Given the description of an element on the screen output the (x, y) to click on. 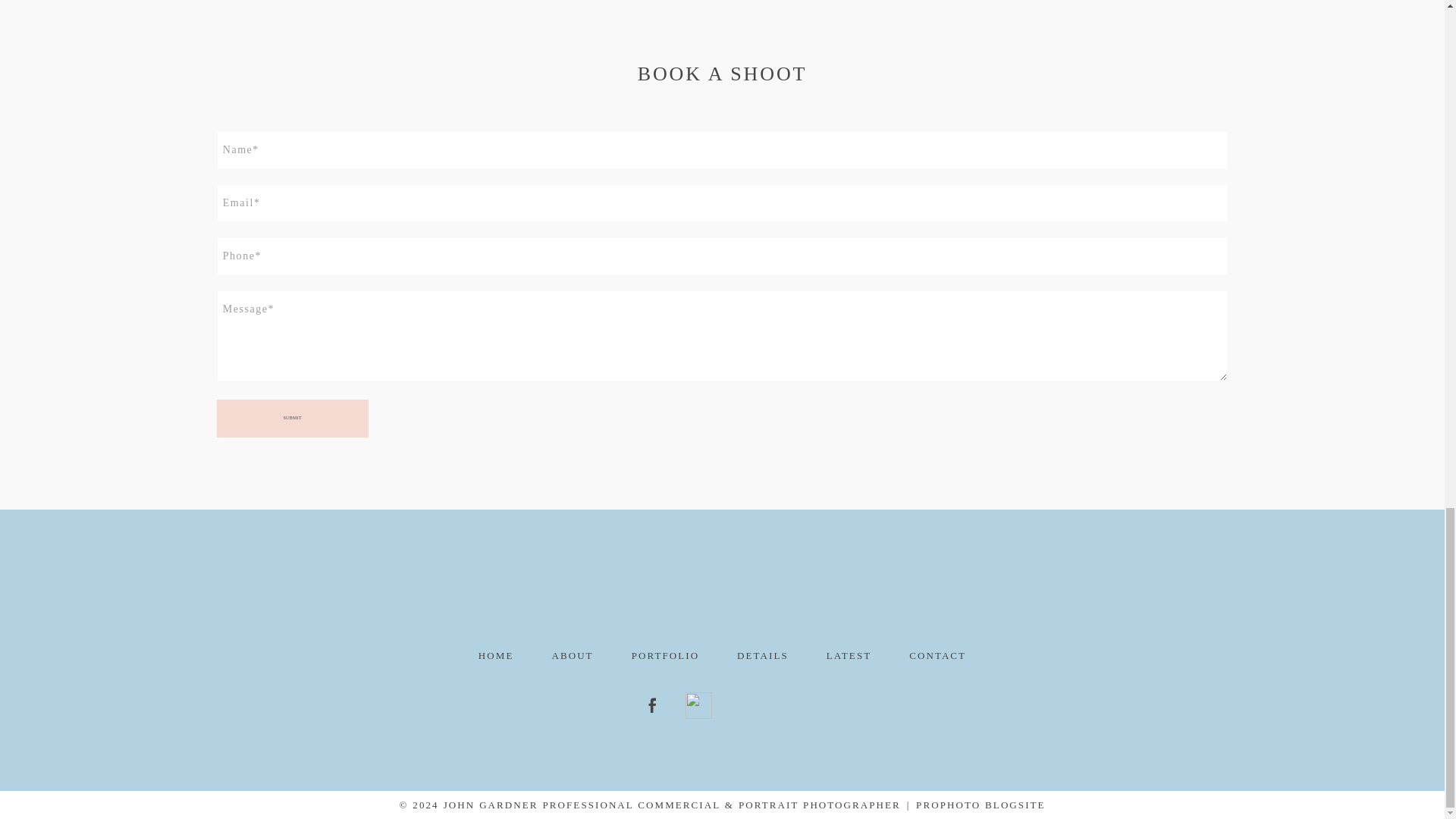
DETAILS (762, 655)
ABOUT (571, 655)
HOME (496, 655)
CONTACT (937, 655)
ProPhoto Website (980, 804)
PORTFOLIO (722, 600)
PROPHOTO BLOGSITE (664, 655)
LATEST (980, 804)
